Given the description of an element on the screen output the (x, y) to click on. 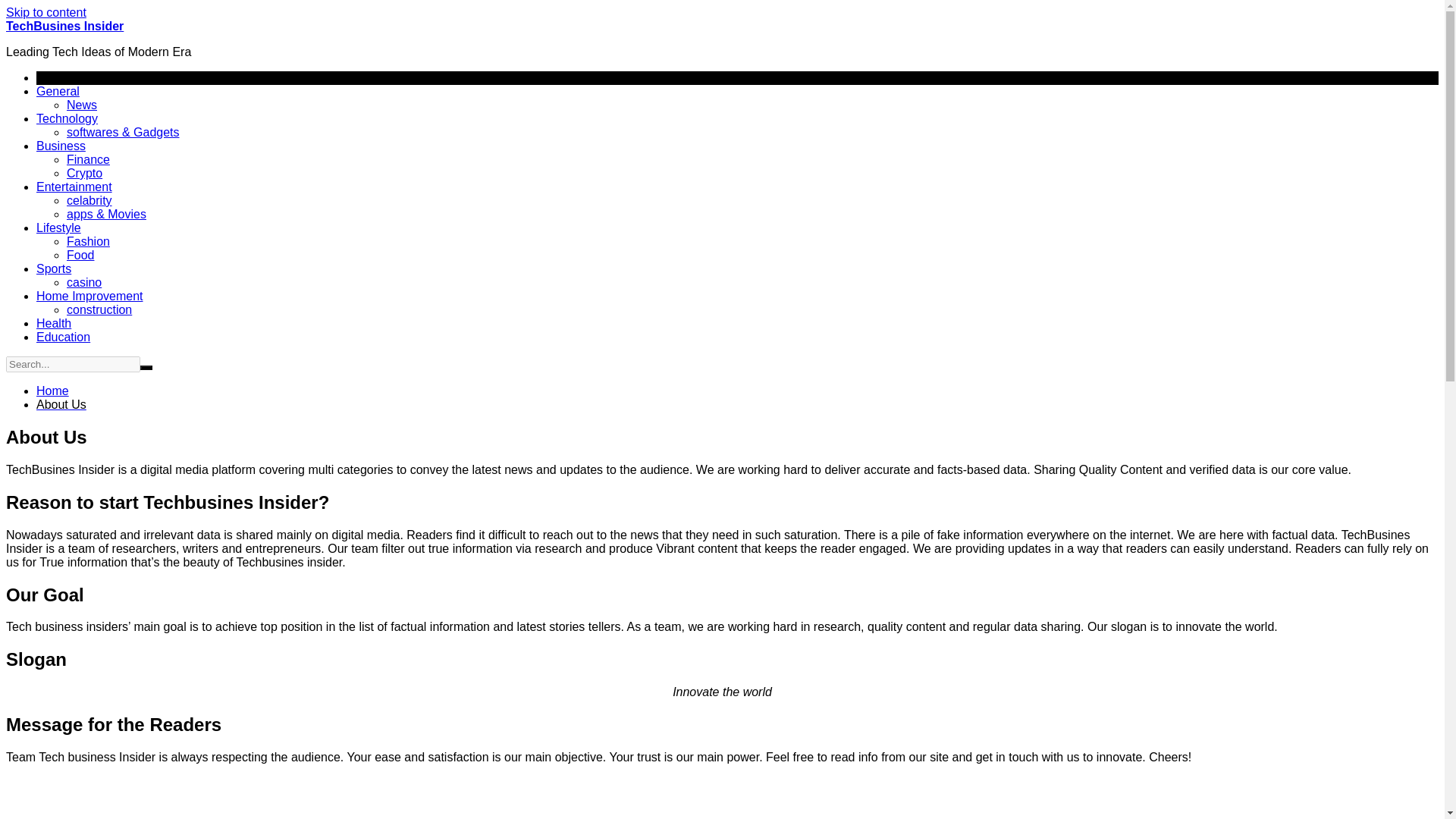
Lifestyle (58, 227)
About Us (60, 404)
celabrity (89, 200)
Entertainment (74, 186)
casino (83, 282)
News (81, 104)
Finance (88, 159)
Home (52, 390)
Health (53, 323)
Technology (66, 118)
TechBusines Insider (64, 25)
Education (63, 336)
Crypto (83, 173)
Business (60, 145)
Food (80, 254)
